Given the description of an element on the screen output the (x, y) to click on. 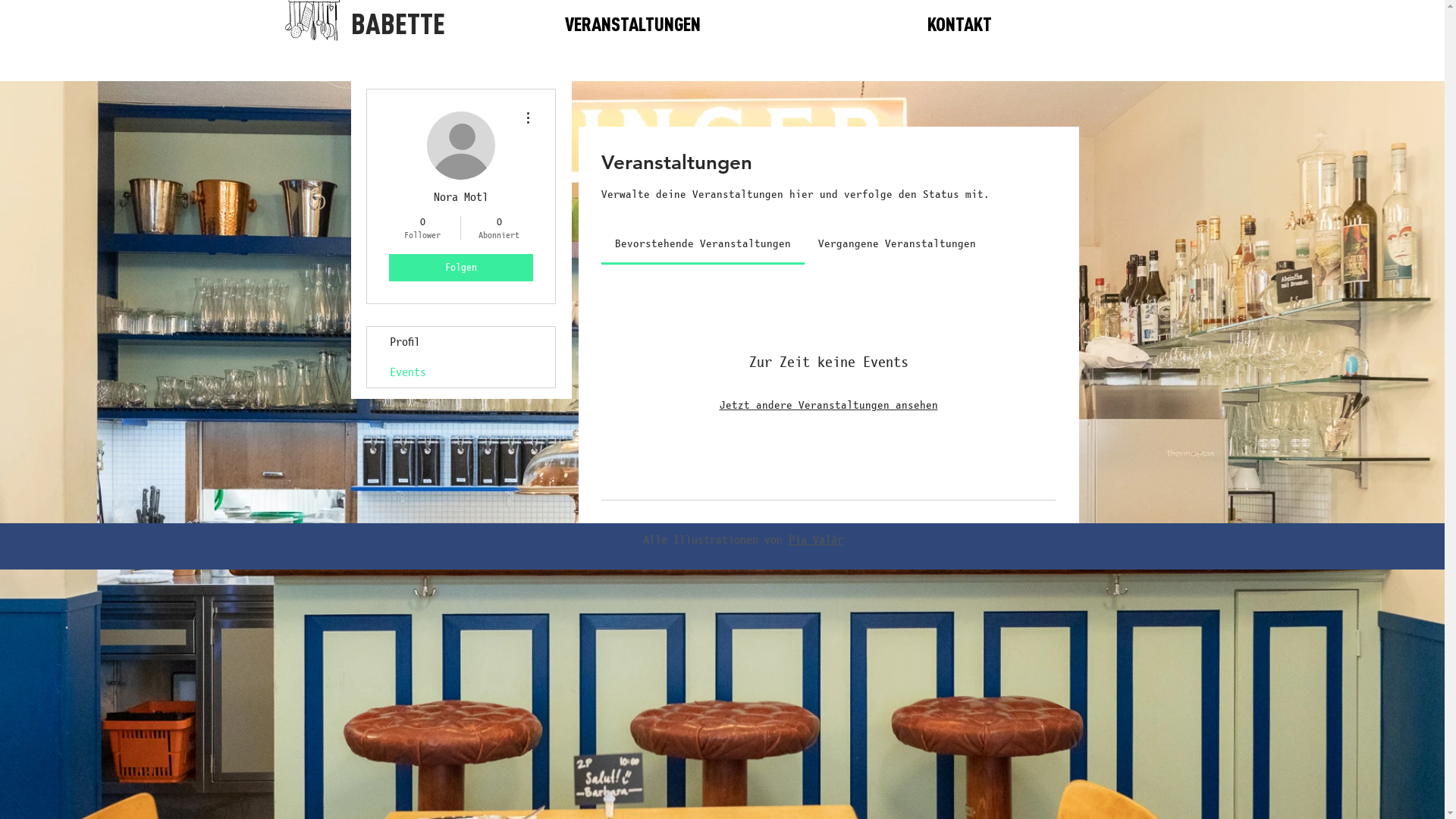
0
Abonniert Element type: text (499, 227)
KONTAKT Element type: text (959, 22)
Folgen Element type: text (460, 267)
Jetzt andere Veranstaltungen ansehen Element type: text (827, 405)
VERANSTALTUNGEN Element type: text (632, 22)
Events Element type: text (461, 372)
0
Follower Element type: text (421, 227)
BABETTE Element type: text (397, 23)
Profil Element type: text (461, 341)
